Given the description of an element on the screen output the (x, y) to click on. 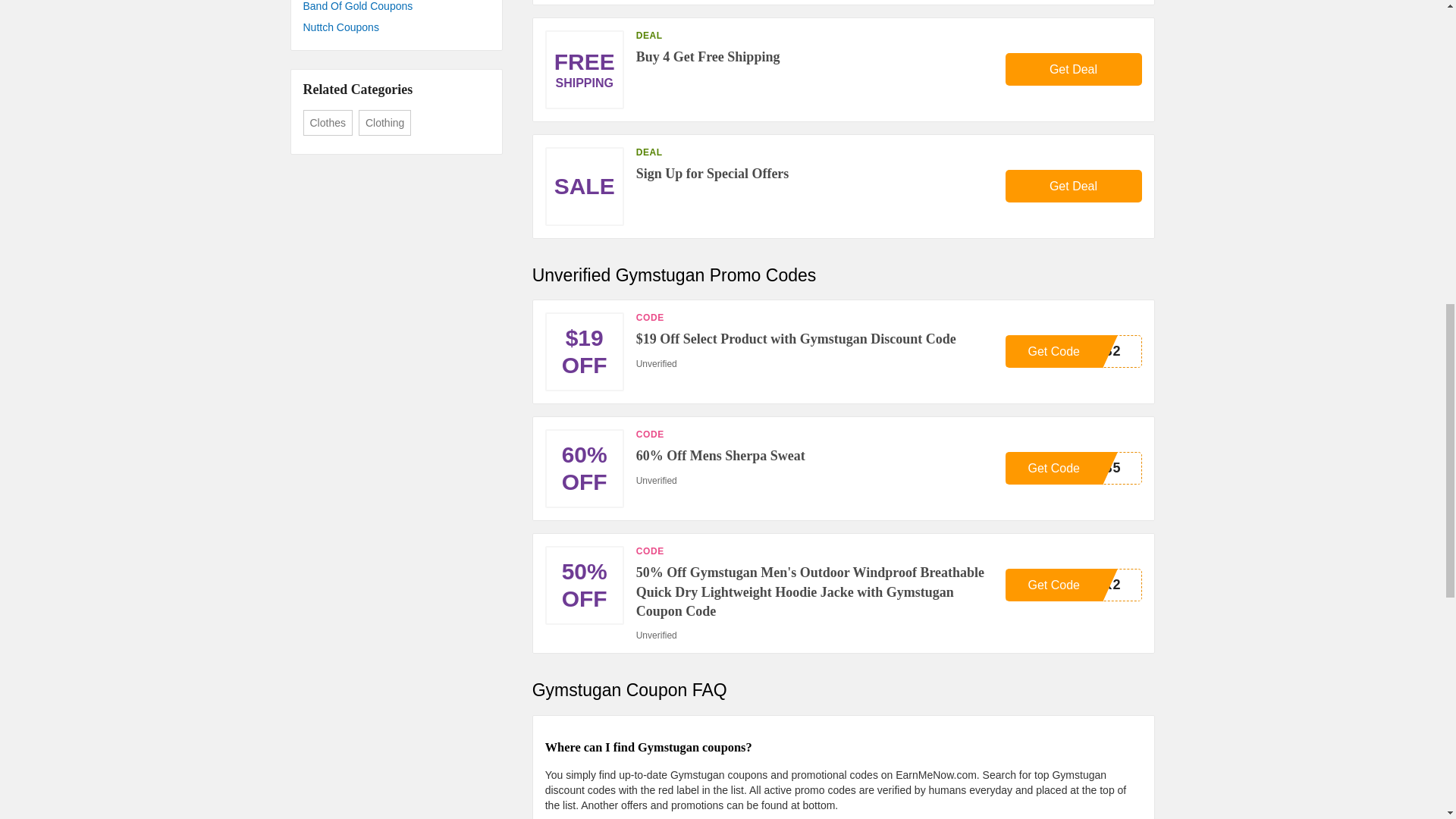
Get Deal (1073, 350)
Nuttch Coupons (1073, 69)
Clothing (1073, 468)
Get Deal (395, 26)
Band Of Gold Coupons (384, 122)
Clothes (1073, 185)
